Given the description of an element on the screen output the (x, y) to click on. 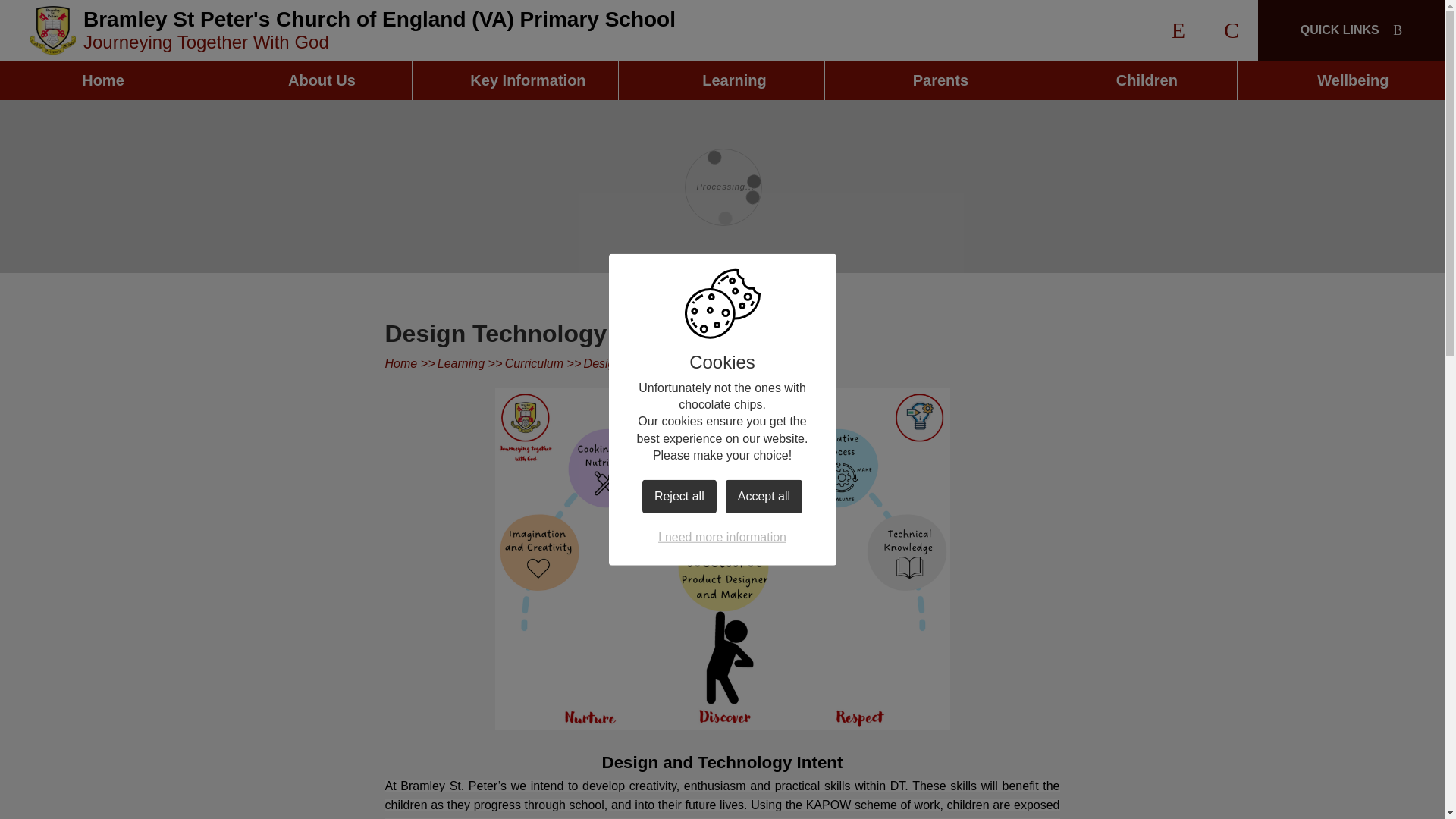
Home (103, 79)
About Us (309, 79)
Key Information (515, 79)
Home Page (52, 29)
